Given the description of an element on the screen output the (x, y) to click on. 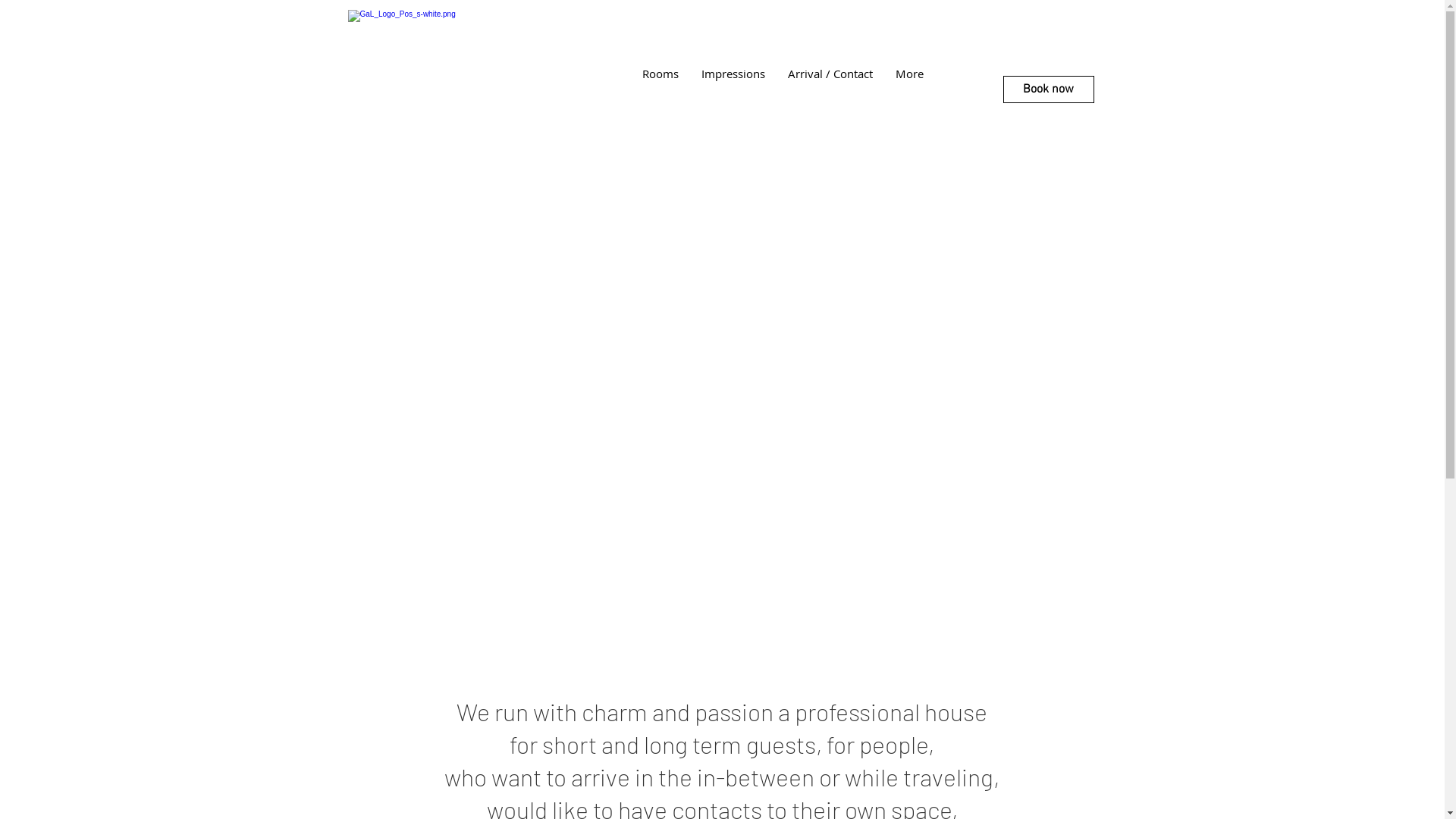
Rooms Element type: text (660, 86)
Book now Element type: text (1047, 89)
GaL_Logo_Pos_s-white.png Element type: hover (422, 51)
Arrival / Contact Element type: text (830, 86)
Impressions Element type: text (733, 86)
